Given the description of an element on the screen output the (x, y) to click on. 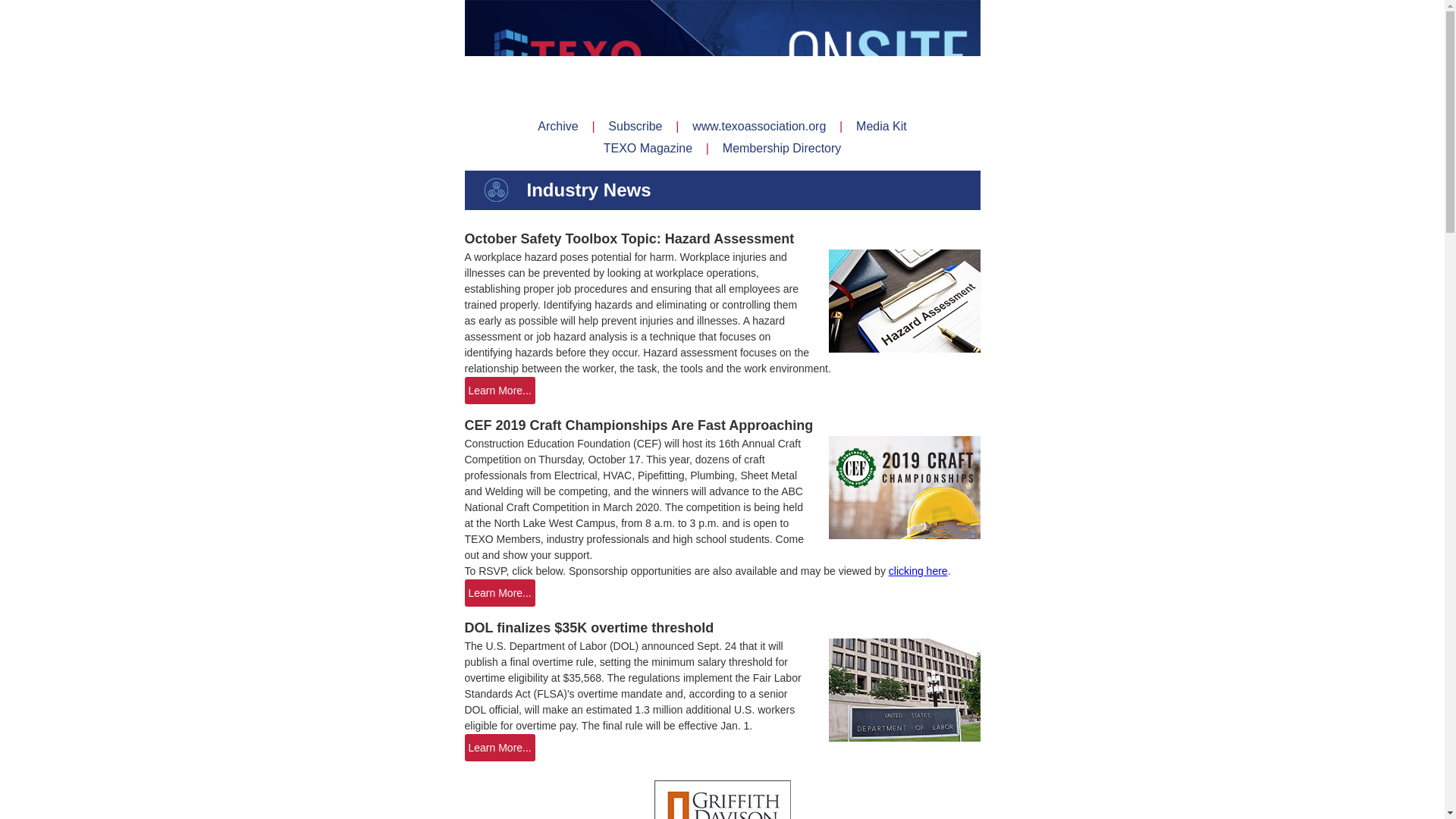
www.texoassociation.org (759, 125)
clicking here (917, 571)
Membership Directory (781, 147)
Subscribe (635, 125)
Industry News (494, 189)
October Safety Toolbox Topic: Hazard Assessment (628, 238)
Learn More... (499, 747)
TEXO Magazine (648, 147)
CEF 2019 Craft Championships Are Fast Approaching (638, 425)
Media Kit (881, 125)
